Given the description of an element on the screen output the (x, y) to click on. 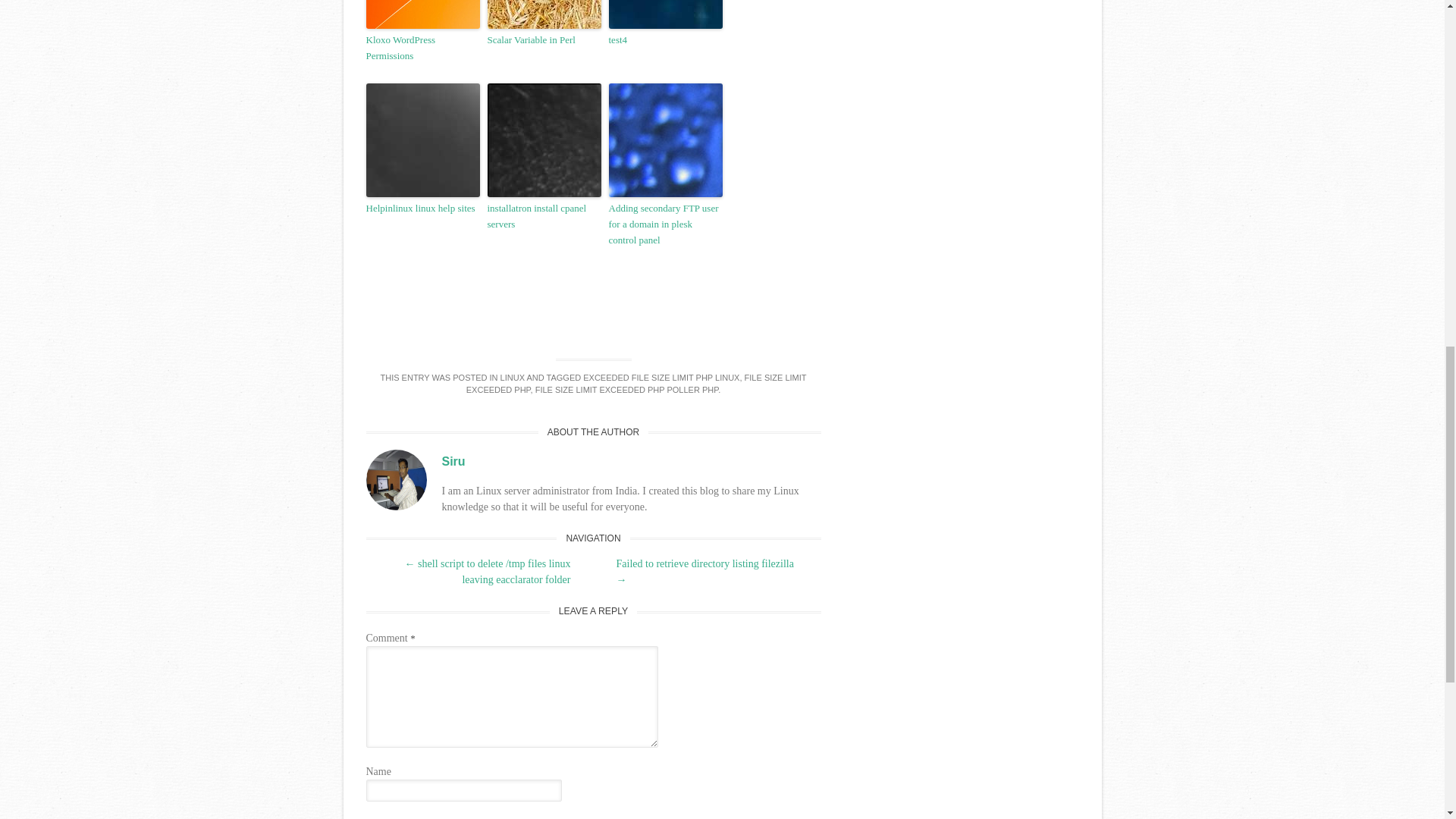
installatron install cpanel servers (542, 216)
test4 (665, 40)
Scalar Variable in Perl (542, 40)
EXCEEDED FILE SIZE LIMIT PHP LINUX (661, 377)
LINUX (512, 377)
Kloxo WordPress Permissions (422, 48)
Helpinlinux linux help sites (422, 208)
Siru (452, 461)
FILE SIZE LIMIT EXCEEDED PHP (635, 383)
FILE SIZE LIMIT EXCEEDED PHP POLLER PHP (626, 388)
